Given the description of an element on the screen output the (x, y) to click on. 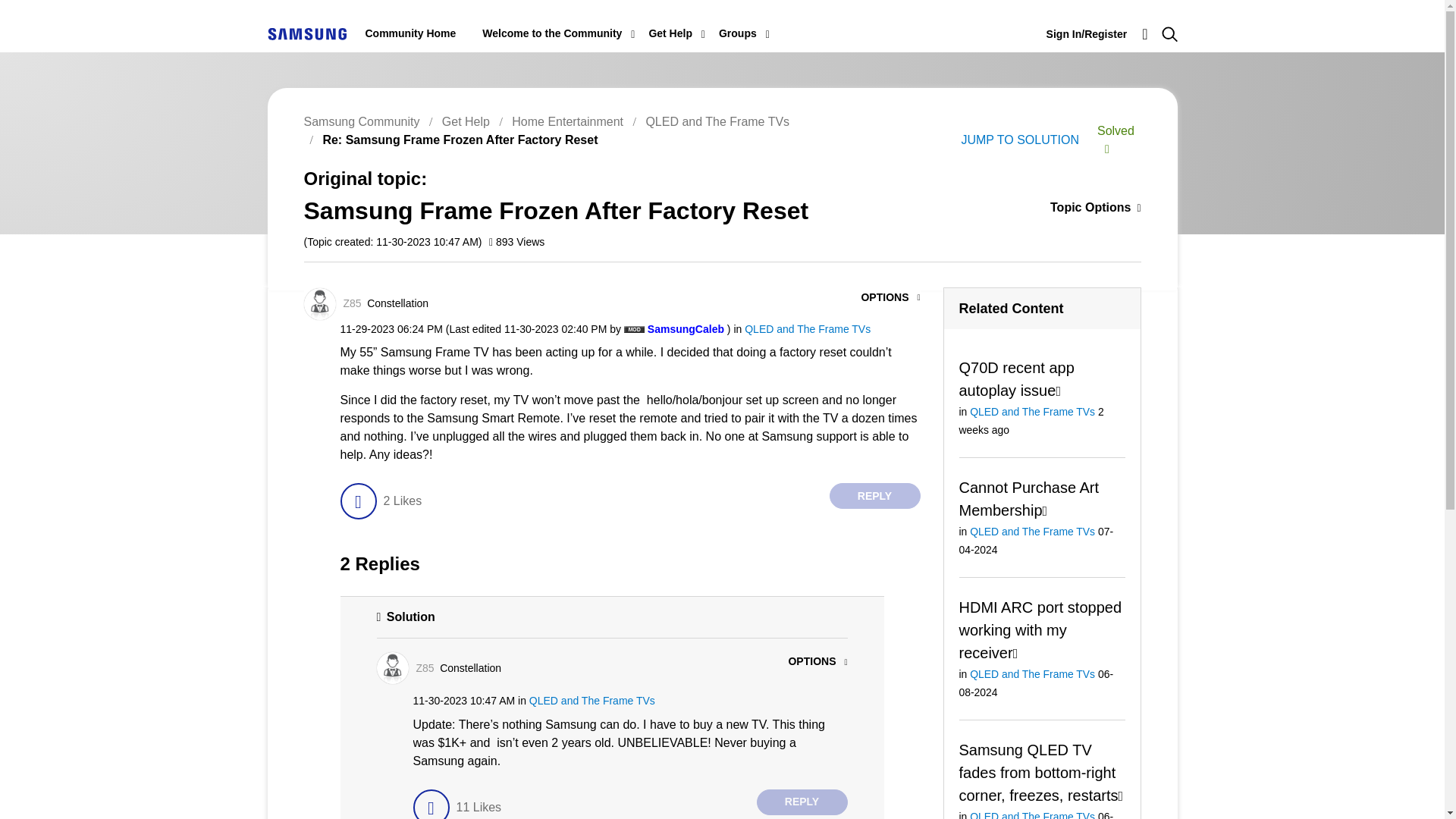
Samsung (306, 33)
Samsung (306, 33)
Groups (738, 33)
Welcome to the Community (551, 33)
Get Help (670, 33)
Get Help (670, 33)
Community Home (411, 33)
Welcome to the Community (551, 33)
Community Home (411, 33)
Groups (738, 33)
